Given the description of an element on the screen output the (x, y) to click on. 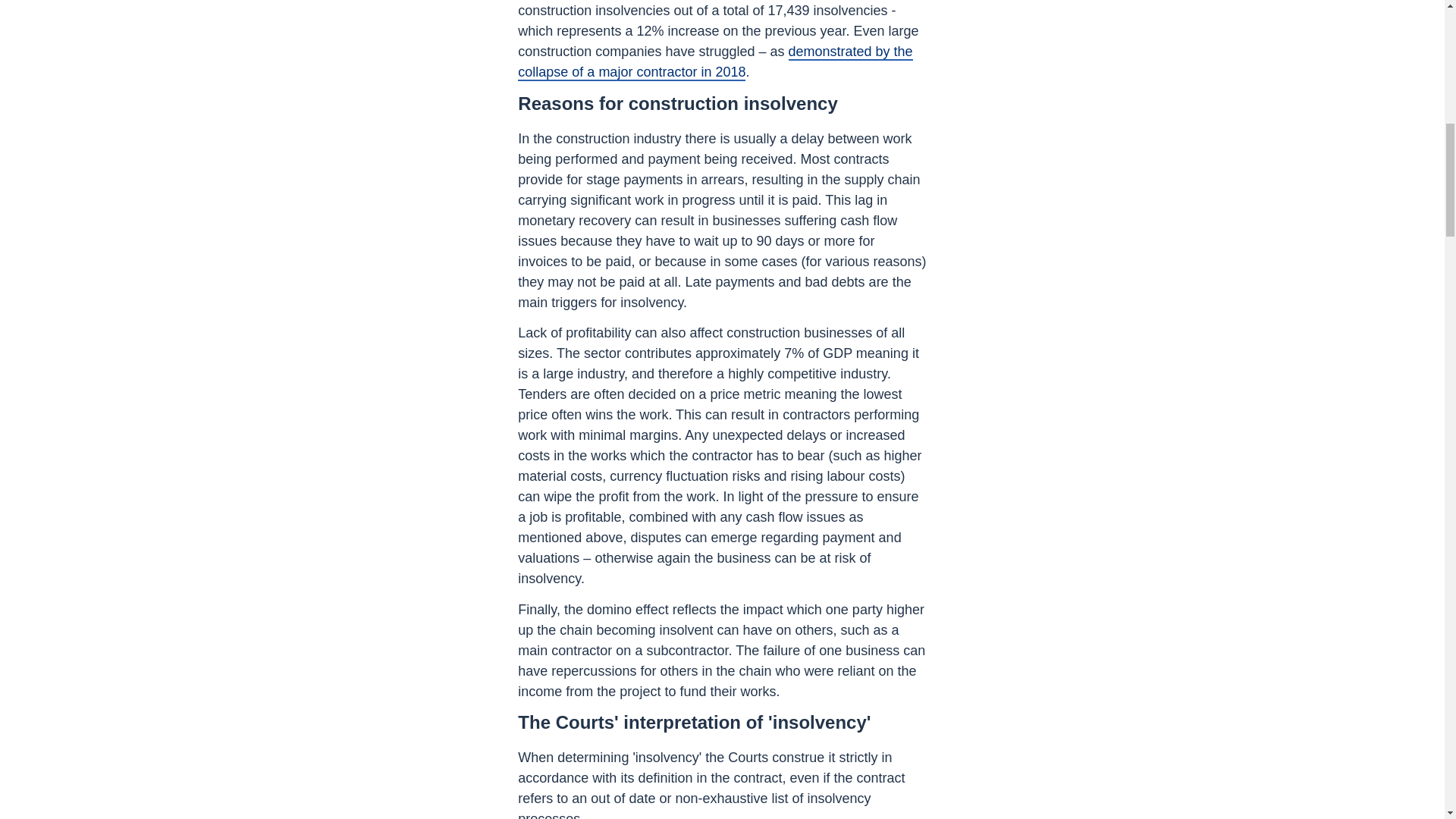
Carillion liquidation - how will it affect me? (715, 62)
